Given the description of an element on the screen output the (x, y) to click on. 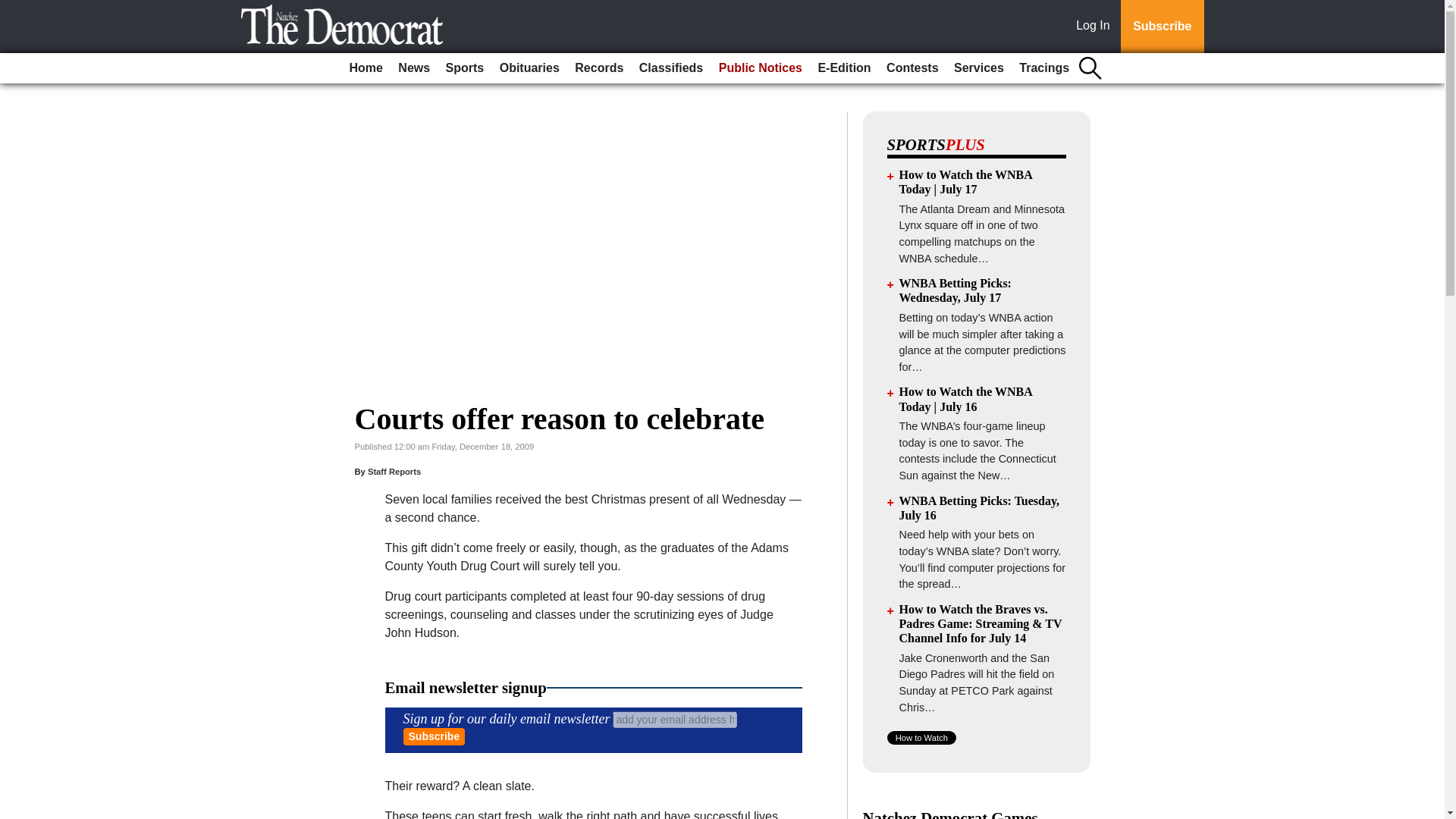
Tracings (1044, 68)
Subscribe (434, 736)
E-Edition (843, 68)
Sports (464, 68)
Go (13, 9)
Obituaries (529, 68)
Services (978, 68)
Subscribe (434, 736)
News (413, 68)
Log In (1095, 26)
Public Notices (760, 68)
Home (365, 68)
Staff Reports (394, 470)
Records (598, 68)
Contests (911, 68)
